Given the description of an element on the screen output the (x, y) to click on. 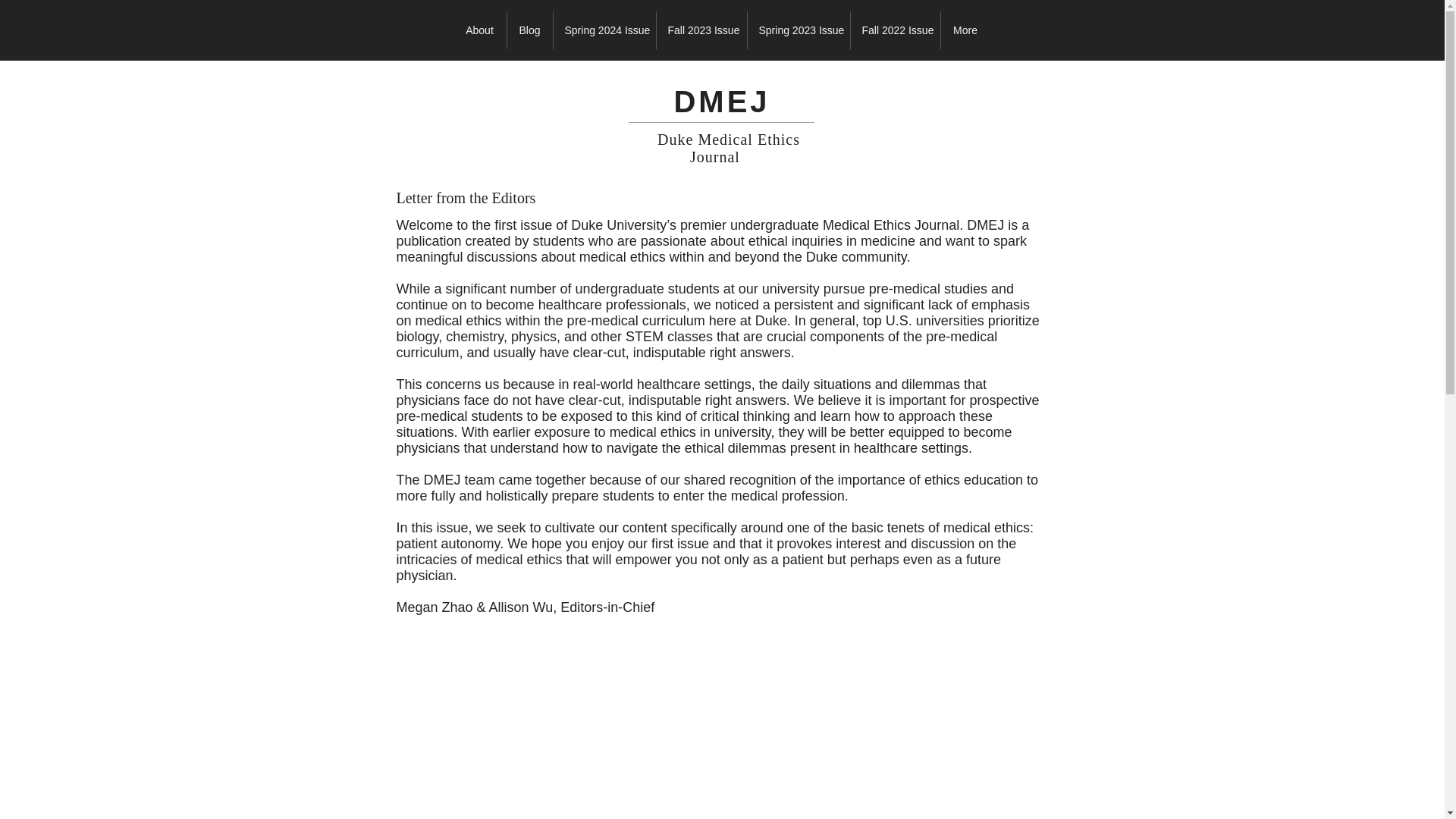
Wix Chat (35, 783)
Spring 2023 Issue (799, 30)
Blog (528, 30)
Fall 2023 Issue (701, 30)
About (479, 30)
Fall 2022 Issue (895, 30)
Spring 2024 Issue (604, 30)
